Given the description of an element on the screen output the (x, y) to click on. 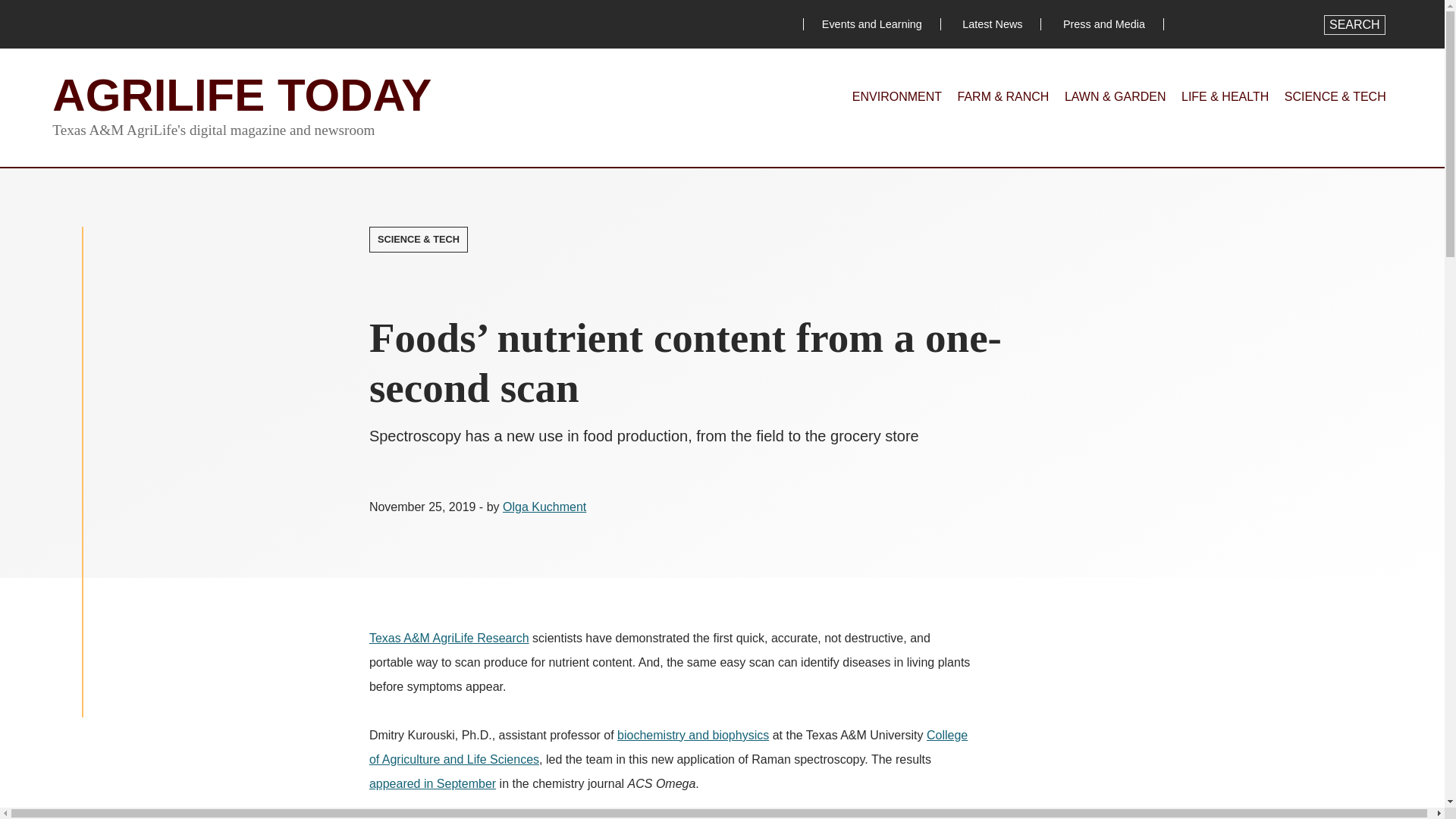
Olga Kuchment (544, 506)
ENVIRONMENT (896, 96)
Search (1354, 25)
Press and Media (1104, 24)
Events and Learning (871, 24)
biochemistry and biophysics (692, 735)
appeared in September (432, 783)
Search (1354, 25)
AGRILIFE TODAY (241, 94)
